Given the description of an element on the screen output the (x, y) to click on. 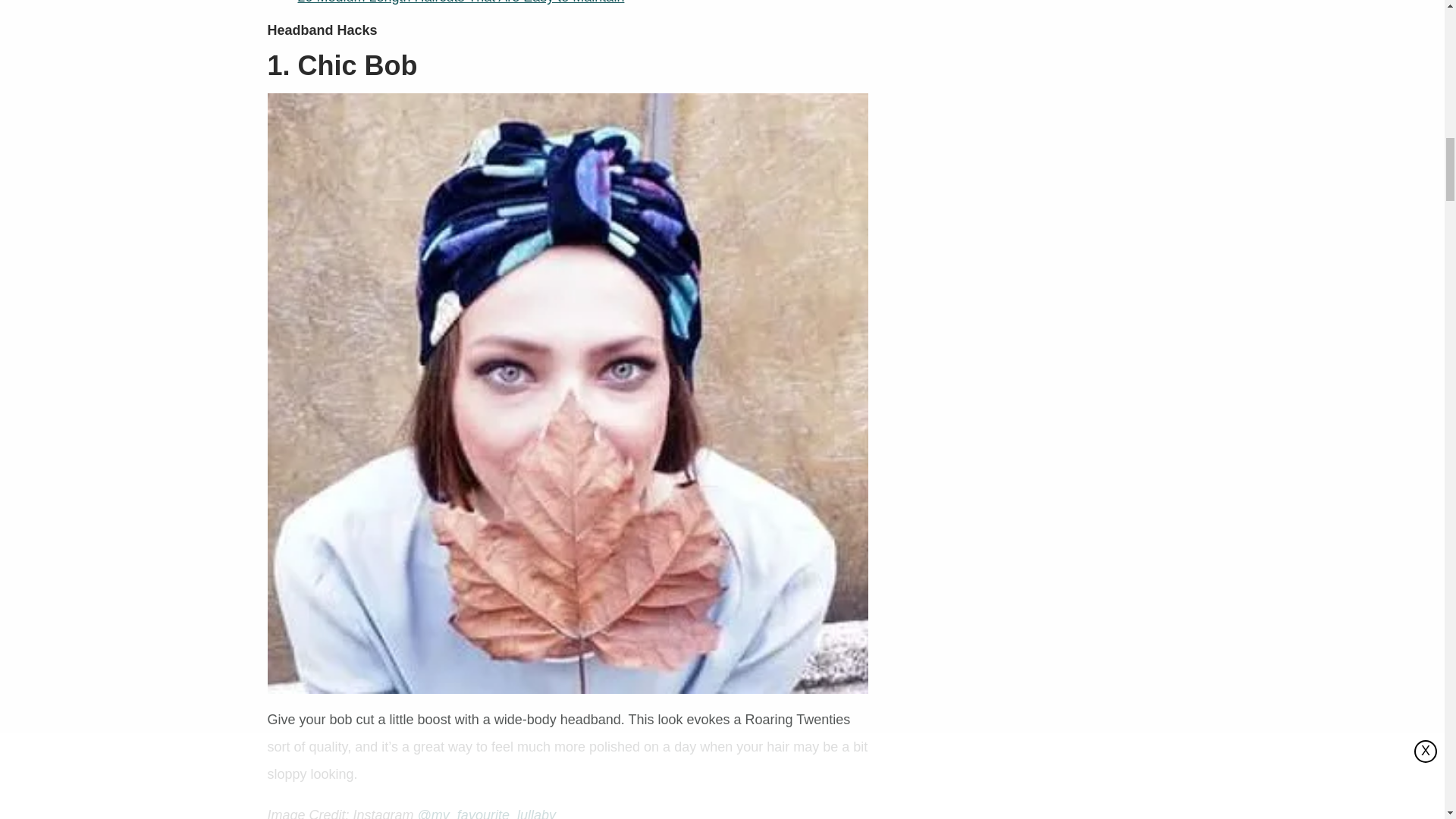
20 Medium Length Haircuts That Are Easy to Maintain (460, 2)
